Given the description of an element on the screen output the (x, y) to click on. 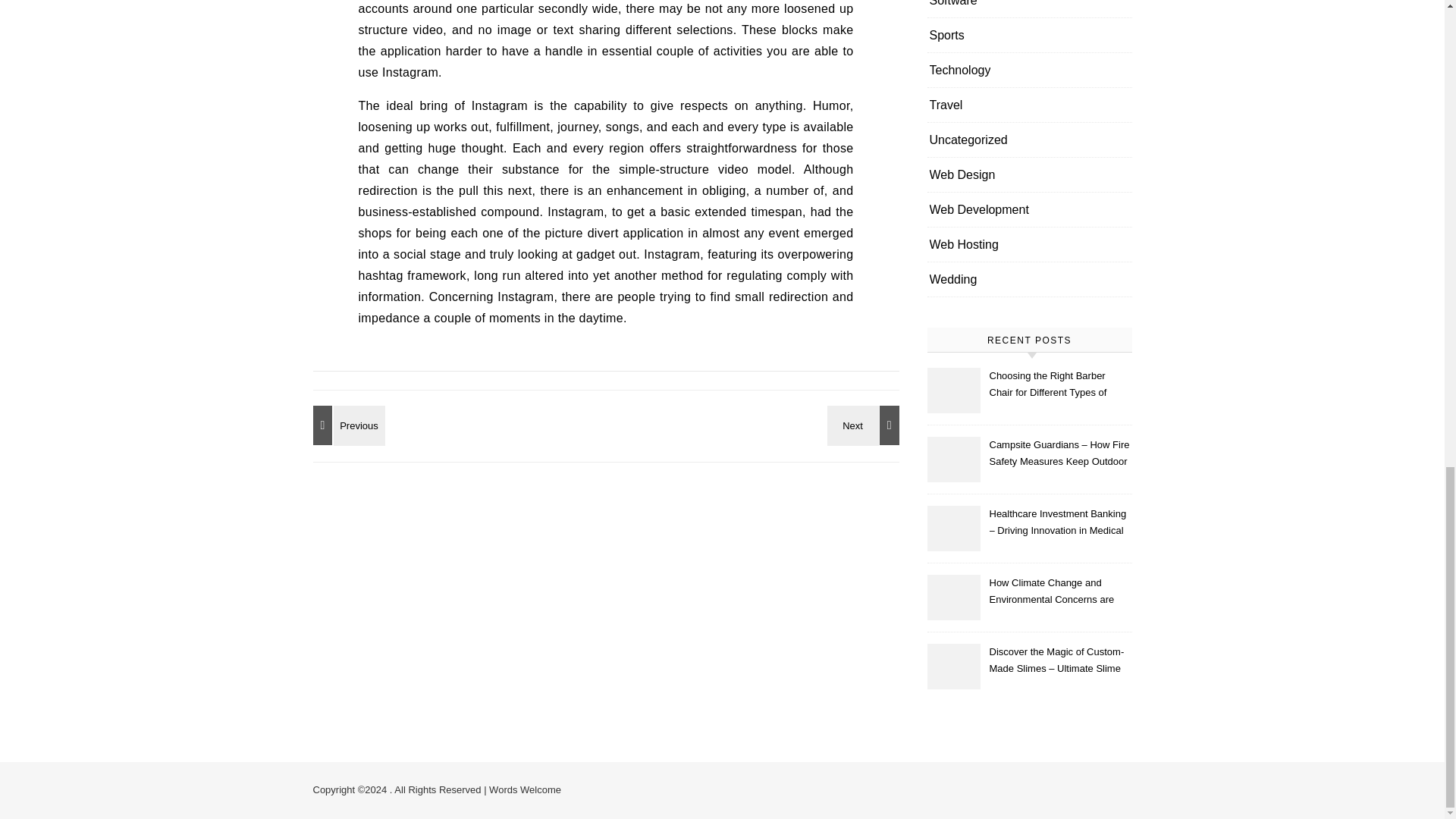
Mesotherapy Gun Procedure - An Organic Solution (346, 425)
Sports Supplements for Building Strong Bones in Bodybuilding (865, 425)
